Given the description of an element on the screen output the (x, y) to click on. 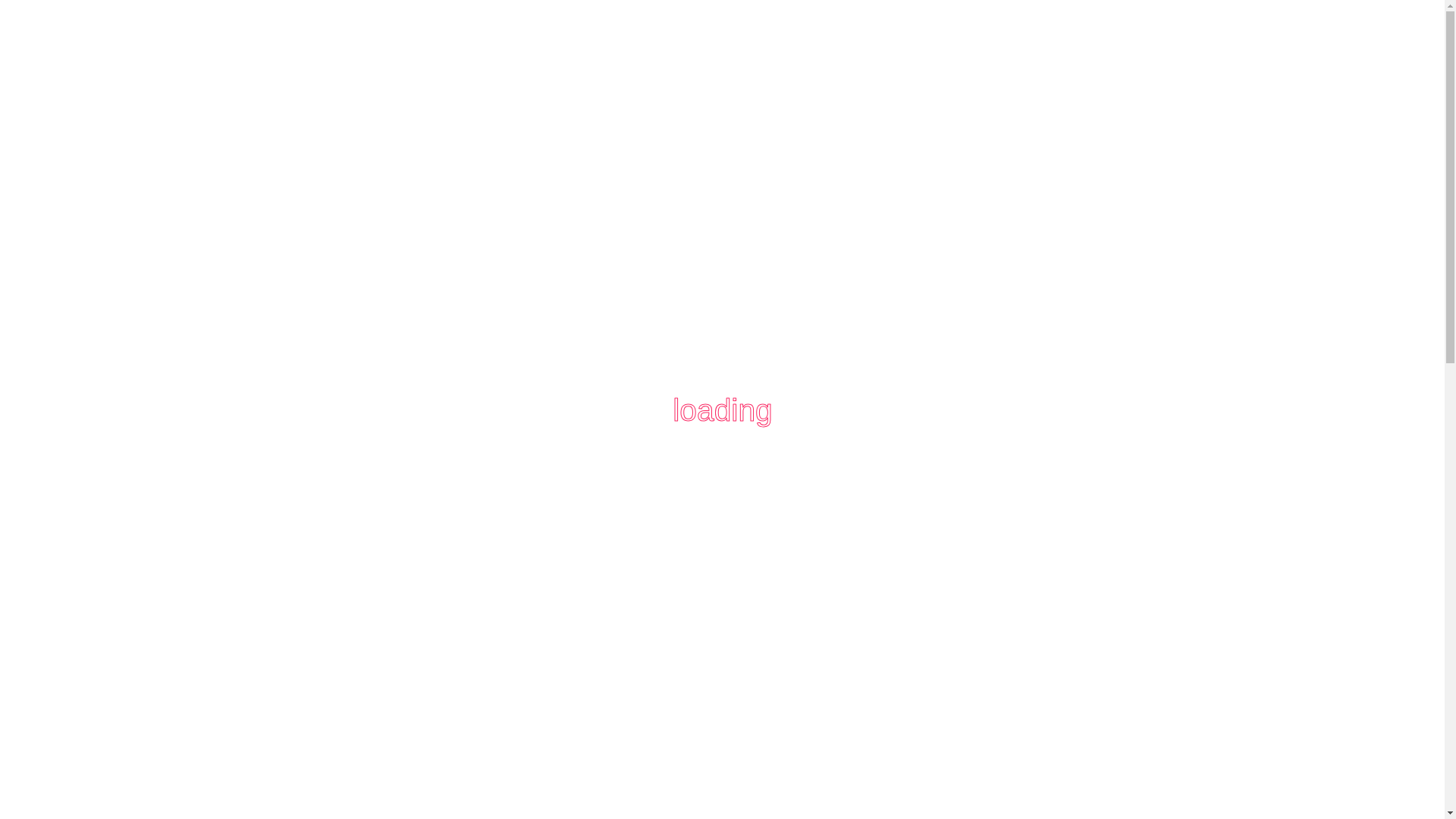
MPASA on Linked In Element type: hover (1144, 44)
HOST EMPLOYMENT Element type: text (765, 192)
ABOUT US Element type: text (315, 192)
Toyota Element type: hover (938, 113)
Home Element type: text (1041, 265)
MPASA on Instagram Element type: hover (1171, 44)
CAREERS Element type: text (647, 192)
STORE Element type: text (972, 192)
Member Login Element type: text (300, 44)
MEMBERSHIP Element type: text (548, 192)
MPASA on Facebook Element type: hover (1119, 44)
TRAINING Element type: text (888, 192)
CONTACT Element type: text (1058, 192)
Check the Christmas Closedown Period 2023-2024 Element type: text (724, 15)
FIND A PLUMBER Element type: text (429, 192)
